Given the description of an element on the screen output the (x, y) to click on. 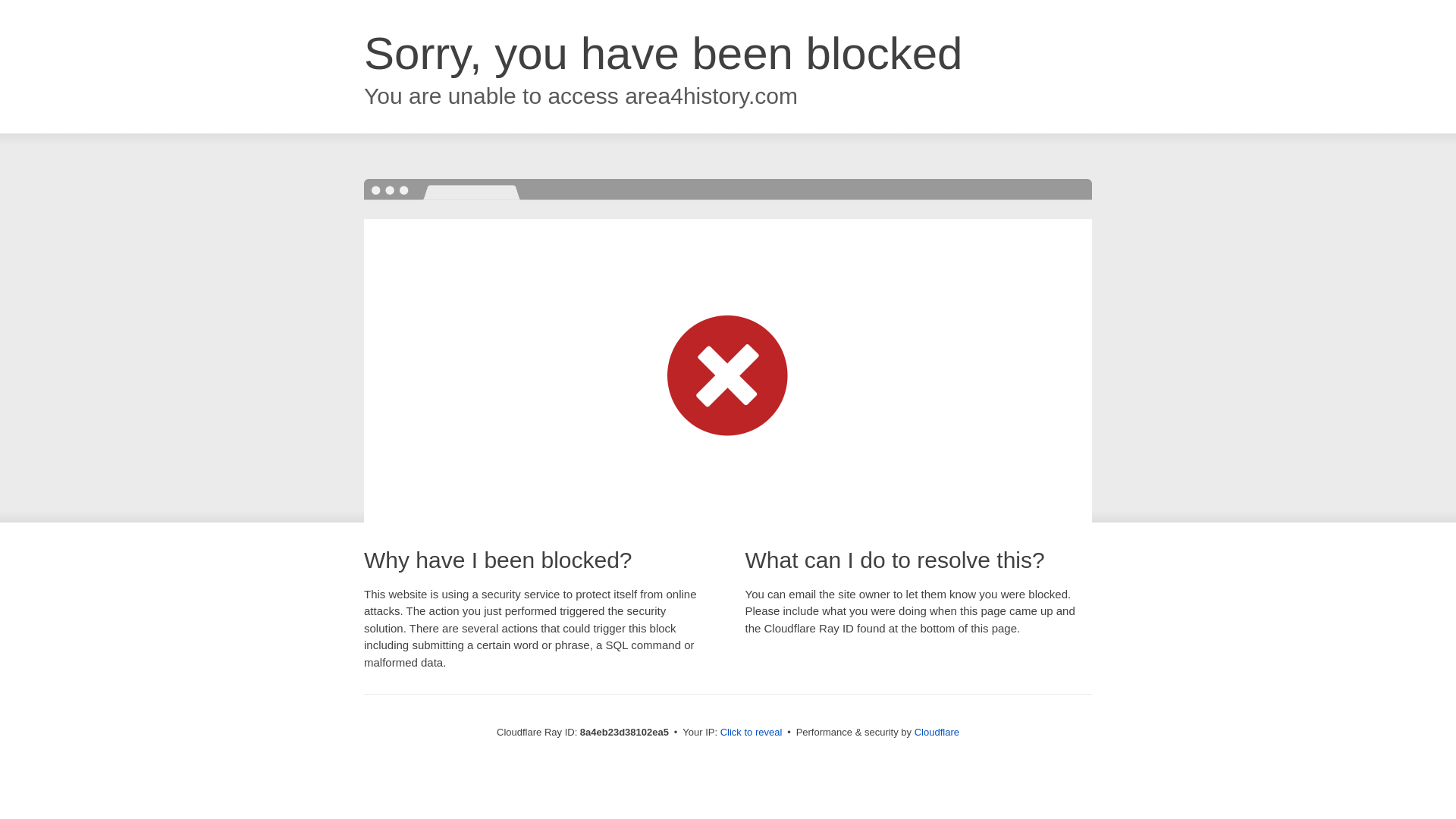
Cloudflare (936, 731)
Click to reveal (751, 732)
